Given the description of an element on the screen output the (x, y) to click on. 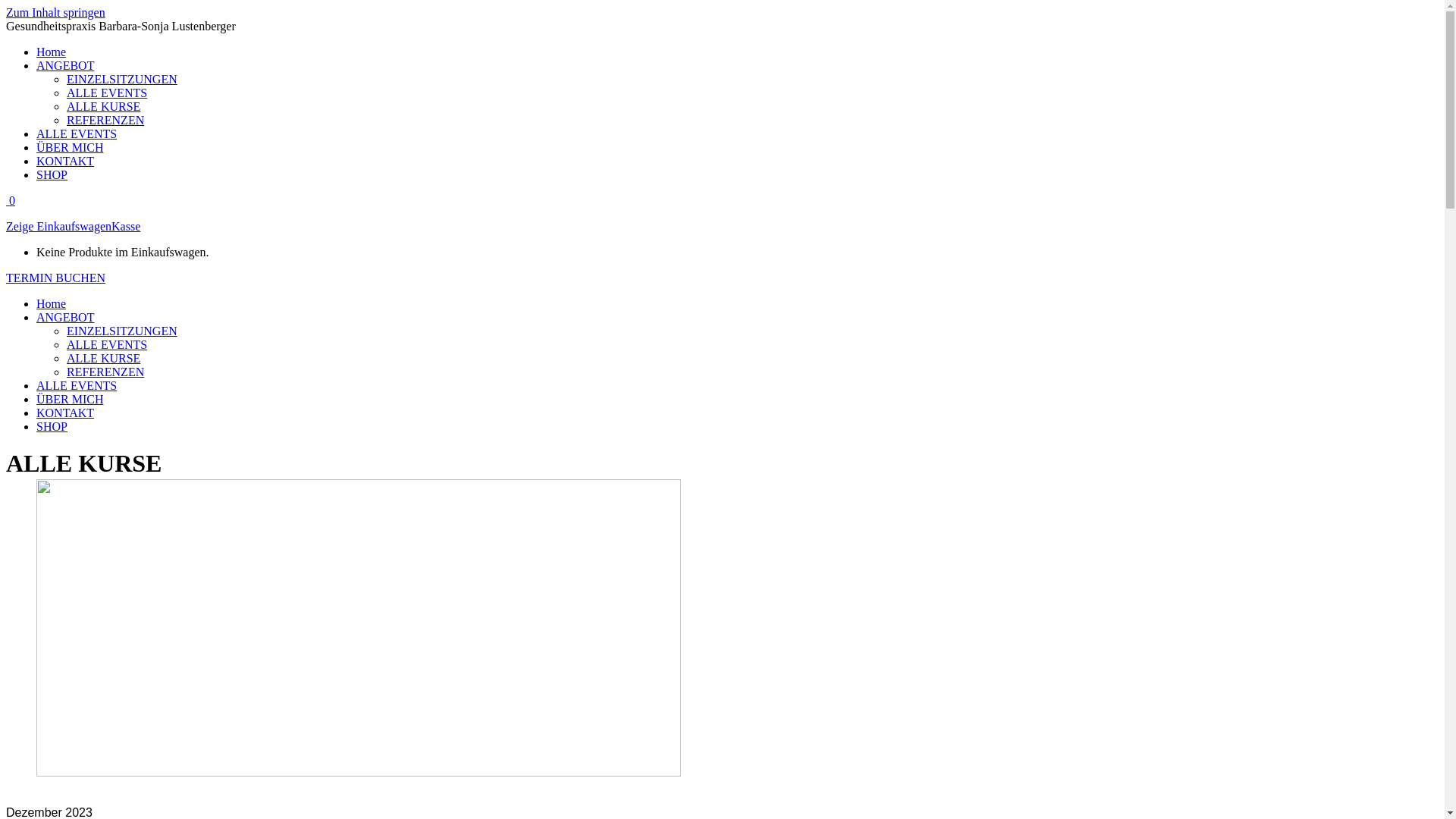
REFERENZEN Element type: text (105, 371)
KONTAKT Element type: text (65, 160)
ALLE EVENTS Element type: text (106, 344)
KONTAKT Element type: text (65, 412)
TERMIN BUCHEN Element type: text (55, 277)
SHOP Element type: text (51, 174)
ALLE KURSE Element type: text (103, 106)
Kasse Element type: text (125, 225)
SHOP Element type: text (51, 426)
ALLE EVENTS Element type: text (76, 133)
ALLE EVENTS Element type: text (76, 385)
Zum Inhalt springen Element type: text (55, 12)
Home Element type: text (50, 303)
EINZELSITZUNGEN Element type: text (121, 78)
EINZELSITZUNGEN Element type: text (121, 330)
ANGEBOT Element type: text (65, 316)
REFERENZEN Element type: text (105, 119)
Home Element type: text (50, 51)
 0 Element type: text (10, 200)
ALLE EVENTS Element type: text (106, 92)
ANGEBOT Element type: text (65, 65)
ALLE KURSE Element type: text (103, 357)
Zeige Einkaufswagen Element type: text (58, 225)
